Given the description of an element on the screen output the (x, y) to click on. 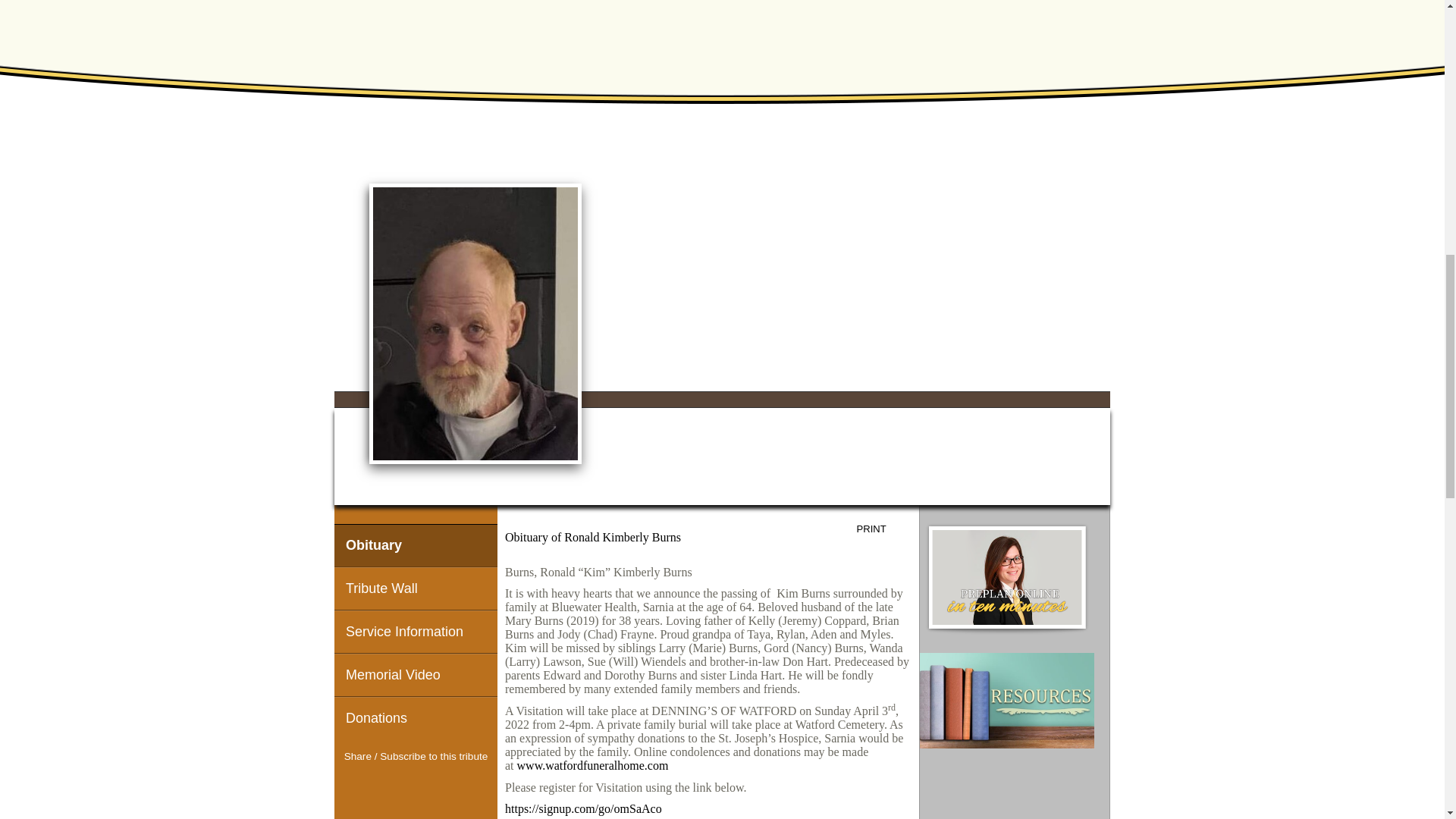
Memorial Video (415, 675)
Service Information (415, 631)
Print (882, 529)
Tribute Wall (415, 588)
Facebook (387, 785)
SIGN IN (1079, 146)
Twitter (415, 785)
Why have funerals? (1007, 700)
Donations (415, 718)
Receive Notifications (442, 785)
Obituary (415, 545)
Pre-Plan (1007, 579)
